Given the description of an element on the screen output the (x, y) to click on. 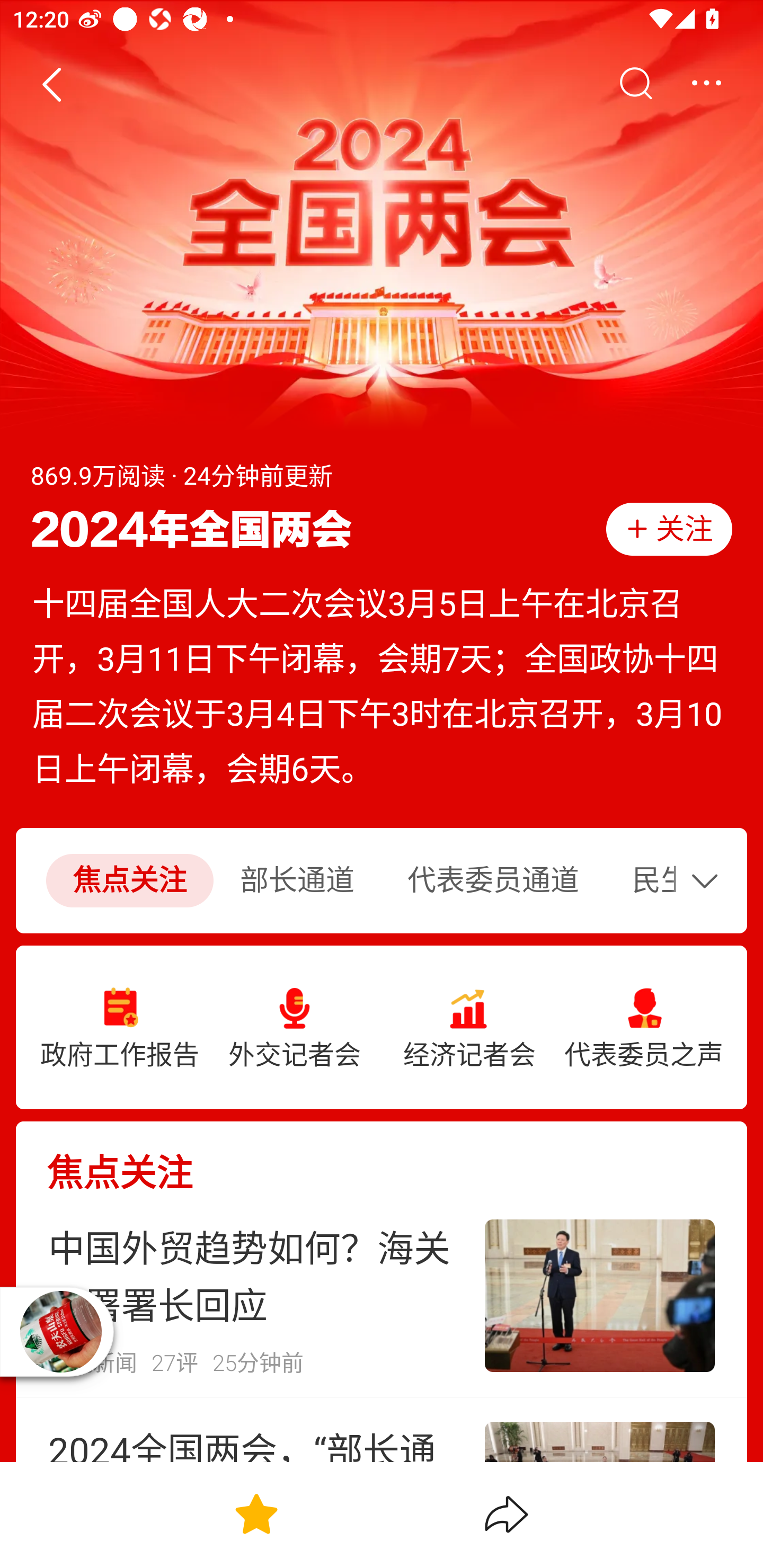
 (50, 83)
 (634, 83)
 (705, 83)
 关注 (668, 529)
焦点关注 (129, 880)
部长通道 (296, 880)
代表委员通道 (492, 880)
 (708, 880)
政府工作报告 (119, 1027)
外交记者会 (294, 1027)
经济记者会 (469, 1027)
代表委员之声 (643, 1027)
焦点关注 (381, 1157)
中国外贸趋势如何？海关总署署长回应 上观新闻 27评 25分钟前 (381, 1295)
播放器 (60, 1331)
收藏  (255, 1514)
分享  (506, 1514)
